Given the description of an element on the screen output the (x, y) to click on. 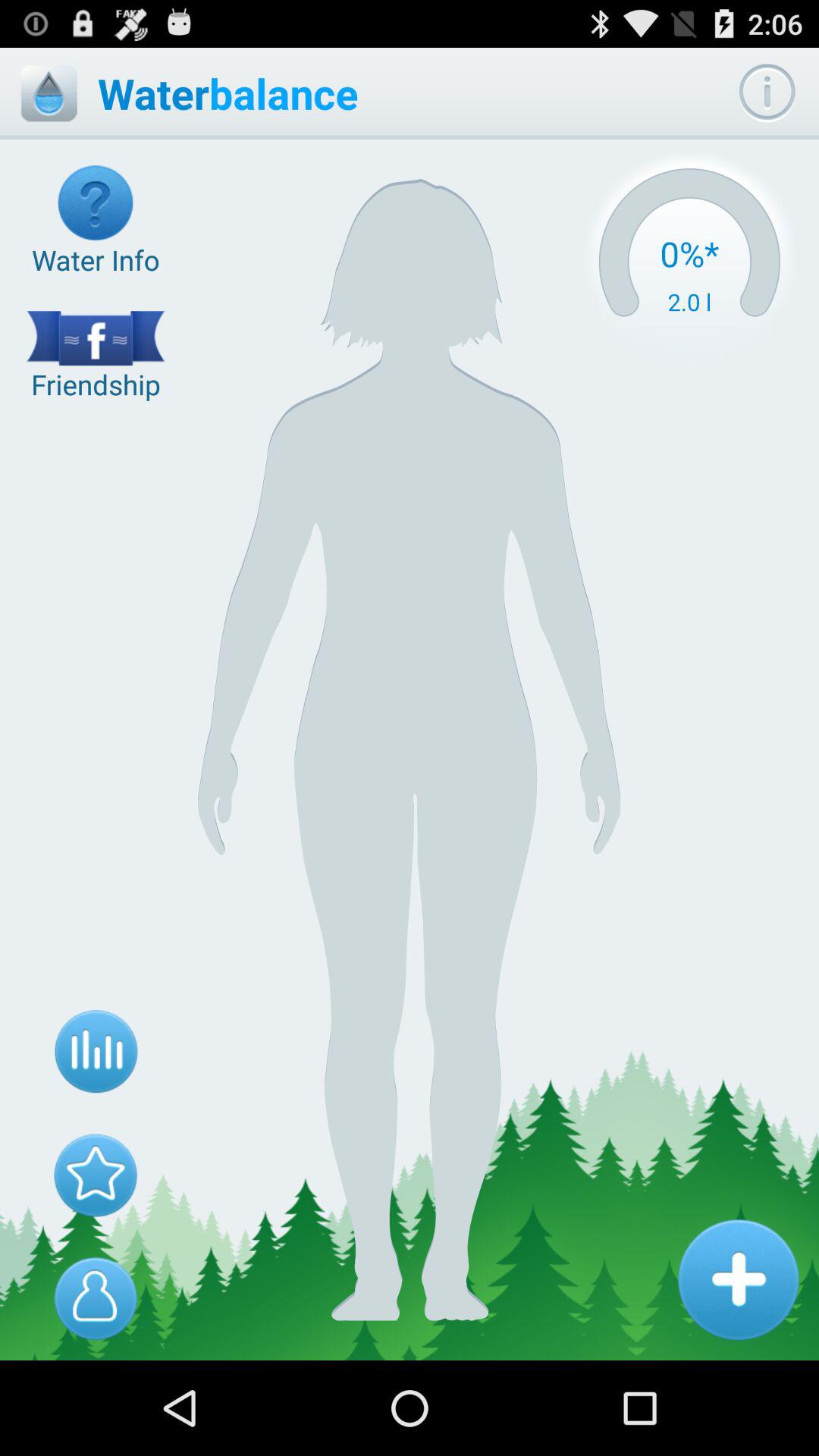
go to profile (95, 1298)
